Given the description of an element on the screen output the (x, y) to click on. 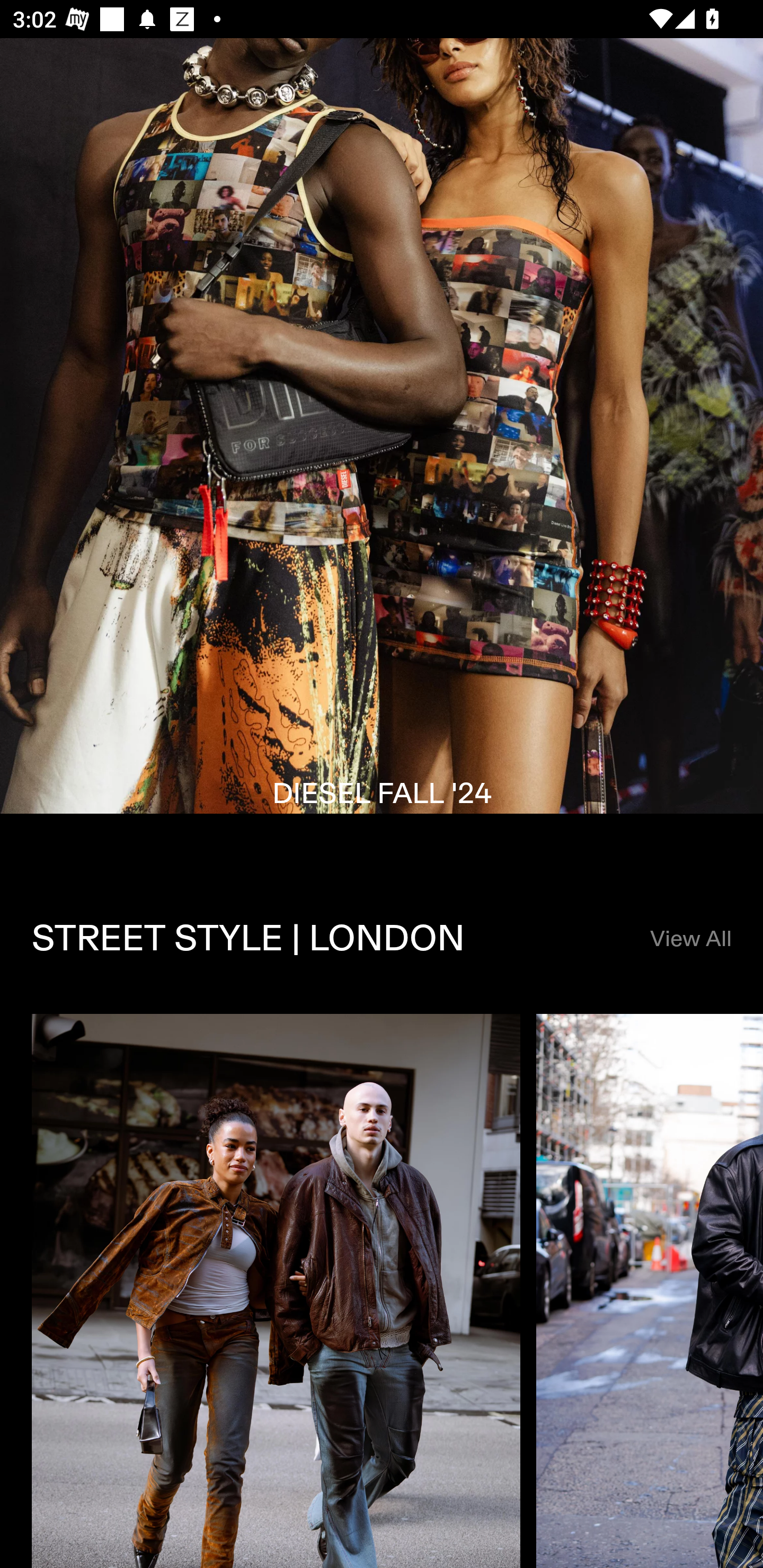
View All (690, 939)
